Given the description of an element on the screen output the (x, y) to click on. 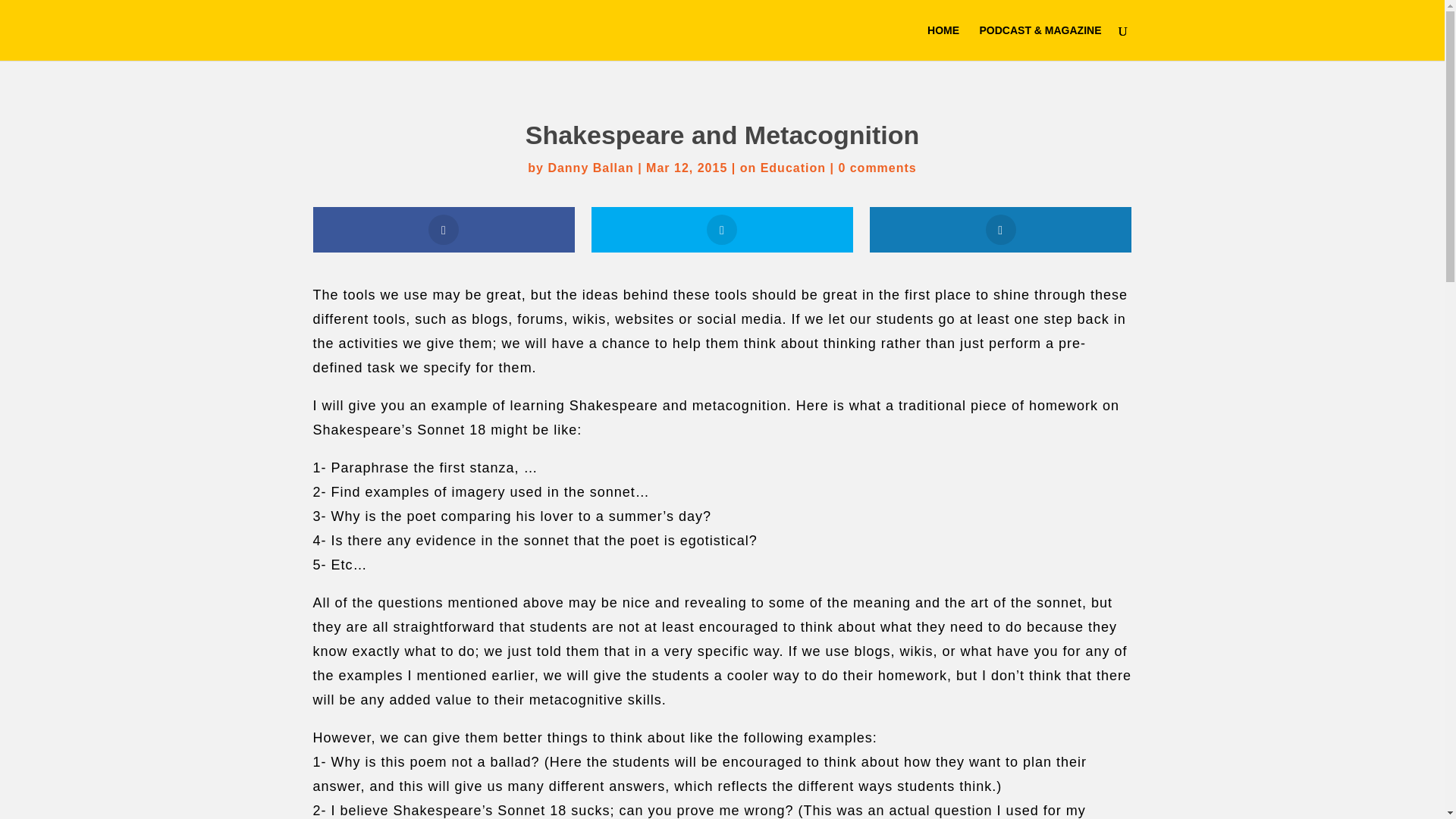
HOME (943, 42)
Danny Ballan (590, 167)
on Education (782, 167)
0 comments (876, 167)
Posts by Danny Ballan (590, 167)
